Given the description of an element on the screen output the (x, y) to click on. 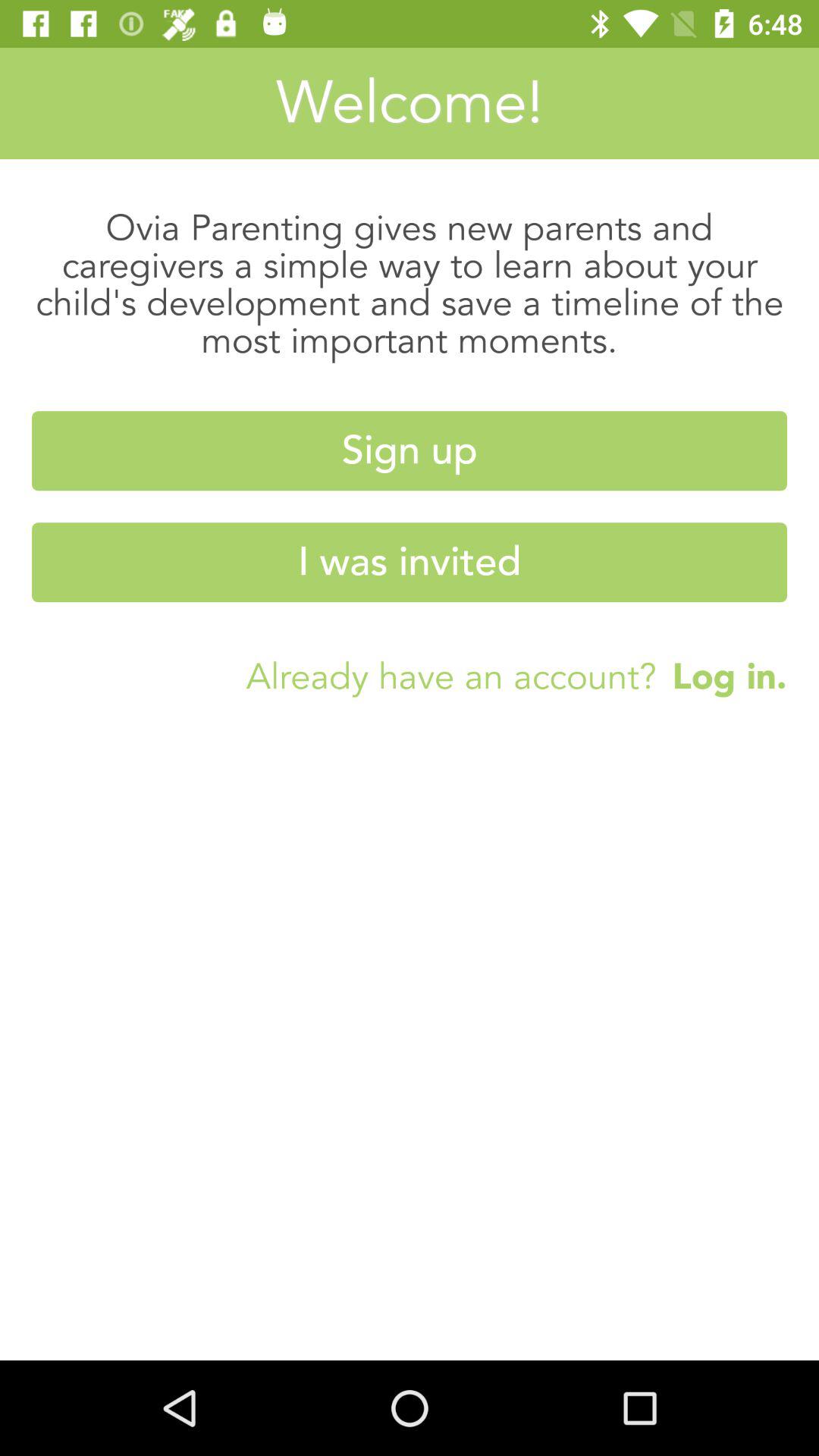
turn on item below sign up icon (409, 562)
